Given the description of an element on the screen output the (x, y) to click on. 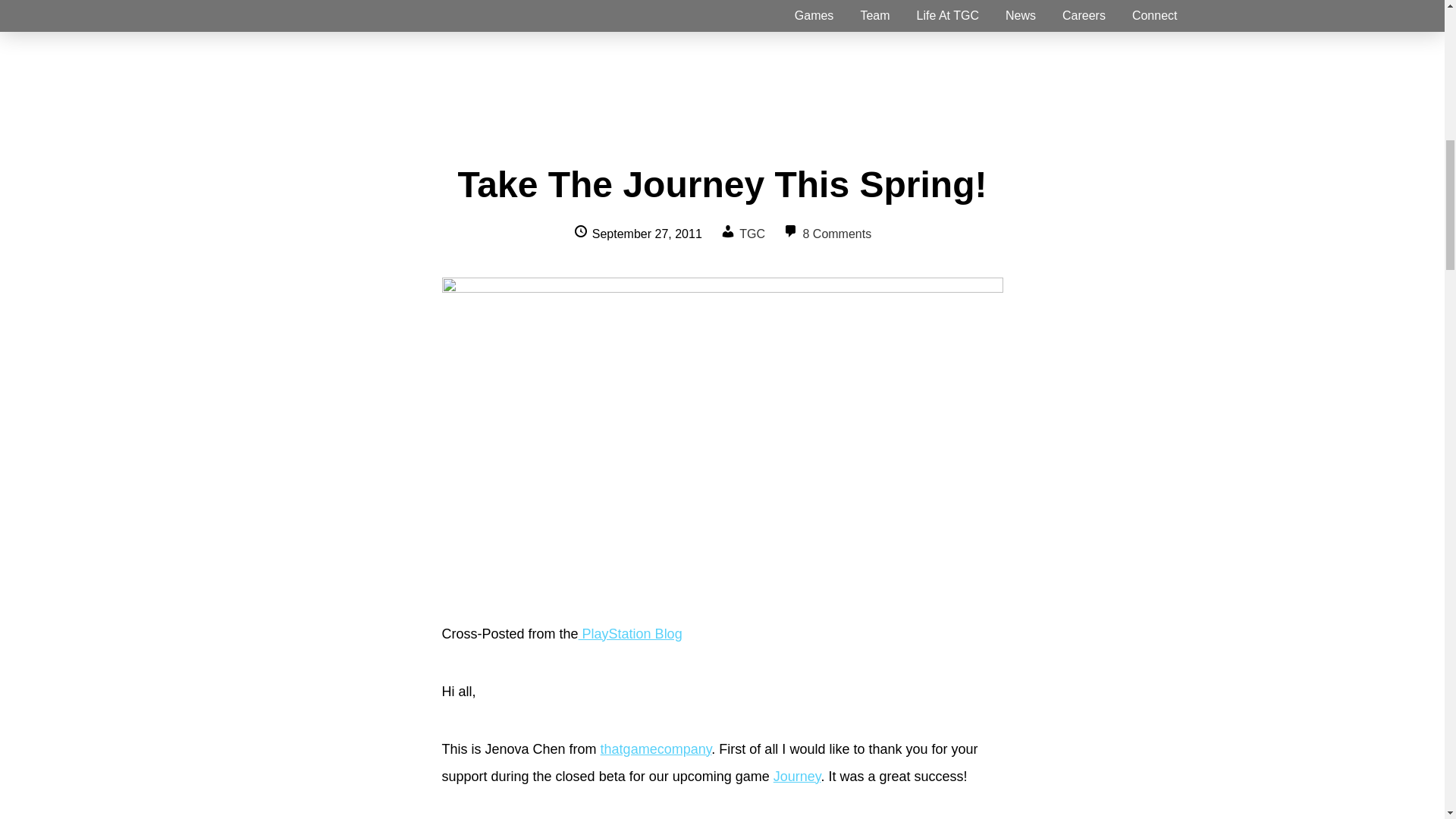
TGC (752, 233)
8 Comments (836, 233)
PlayStation Blog (630, 633)
thatgamecompany (655, 749)
Journey (797, 776)
